Given the description of an element on the screen output the (x, y) to click on. 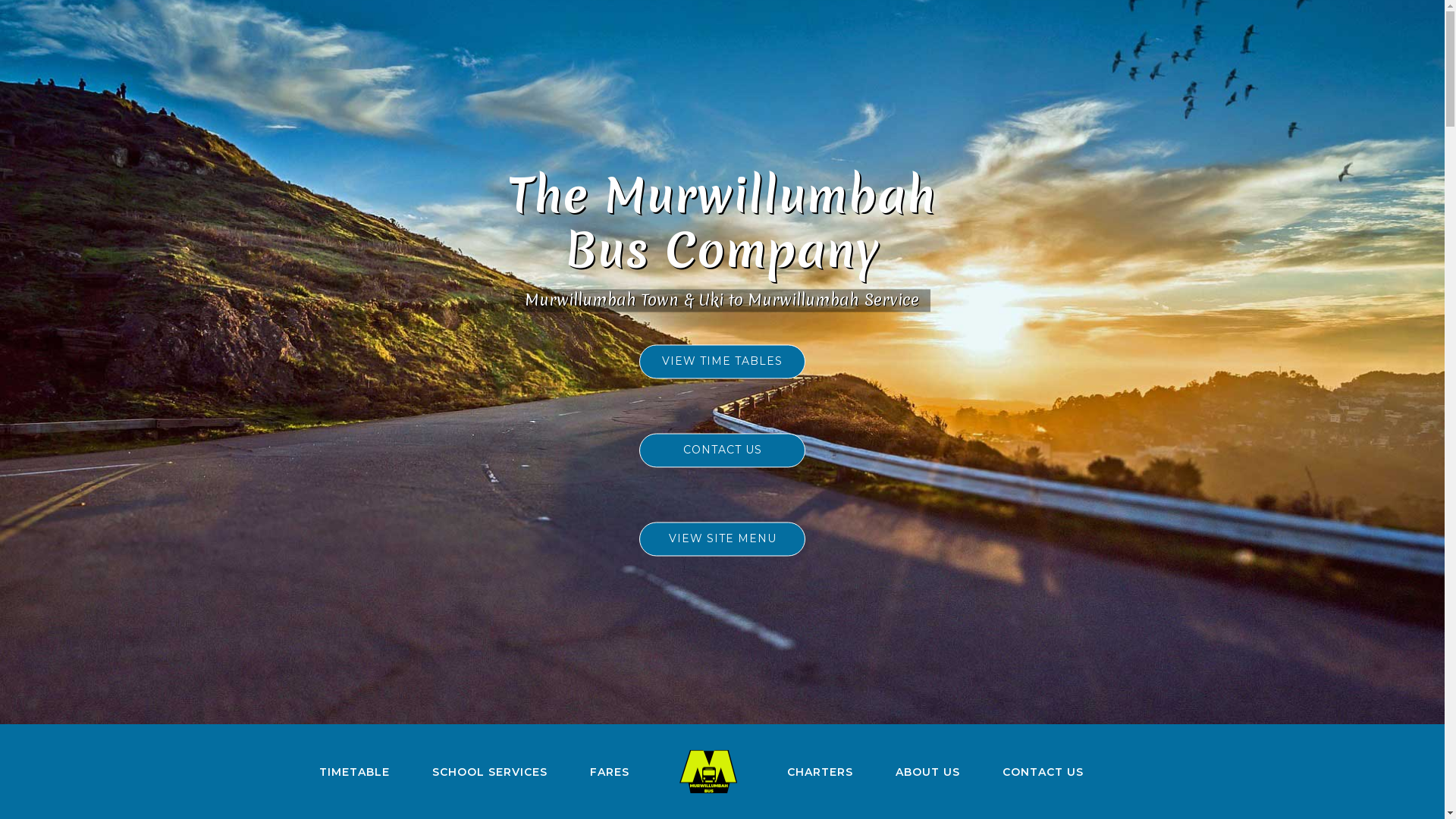
CONTACT US Element type: text (722, 450)
VIEW SITE MENU Element type: text (722, 538)
VIEW TIME TABLES Element type: text (722, 361)
